Given the description of an element on the screen output the (x, y) to click on. 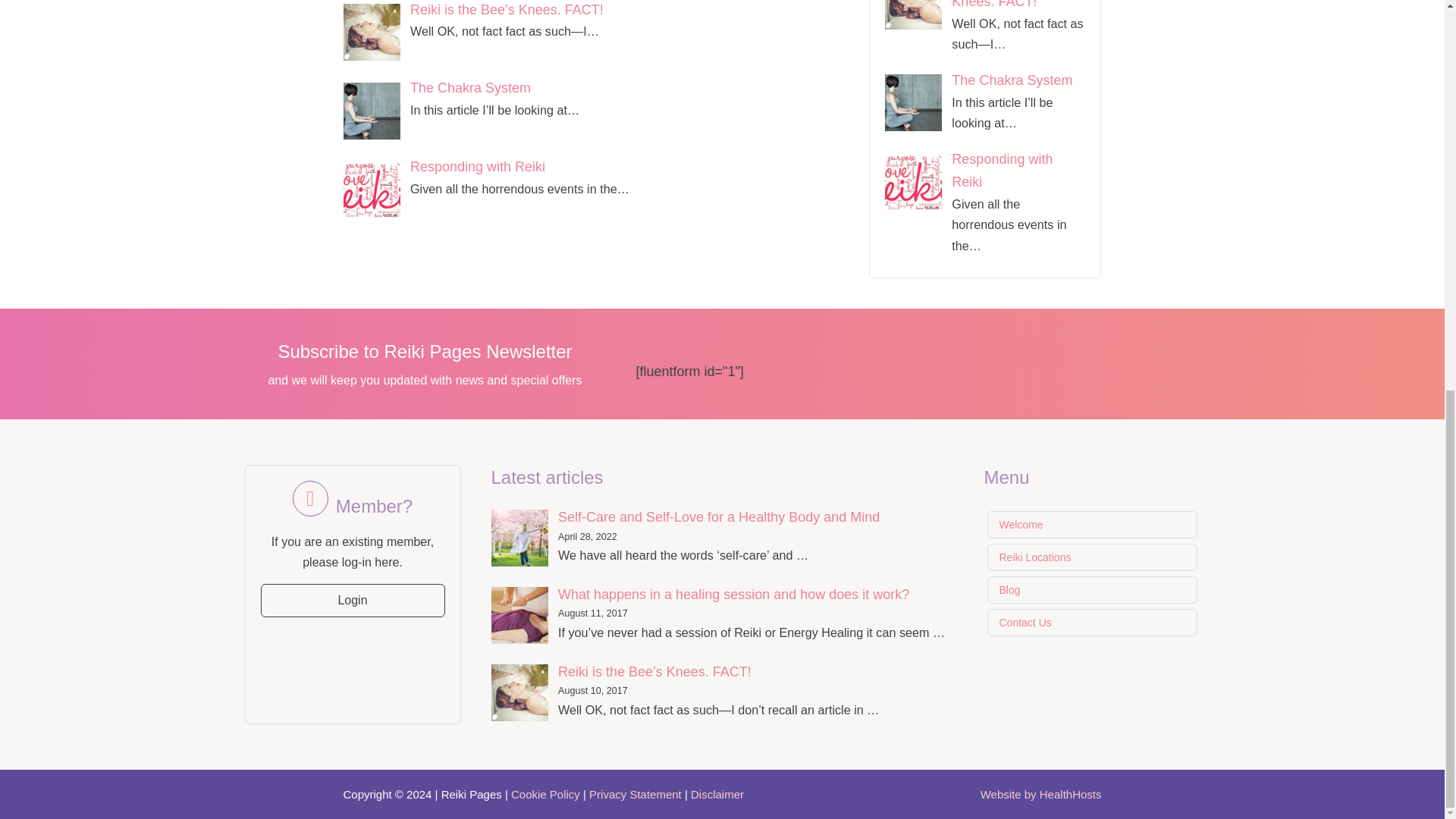
Responding with Reiki (477, 166)
Responding with Reiki (376, 191)
Responding with Reiki (477, 166)
The Chakra System (470, 87)
The Chakra System (470, 87)
The Chakra System (376, 111)
